Given the description of an element on the screen output the (x, y) to click on. 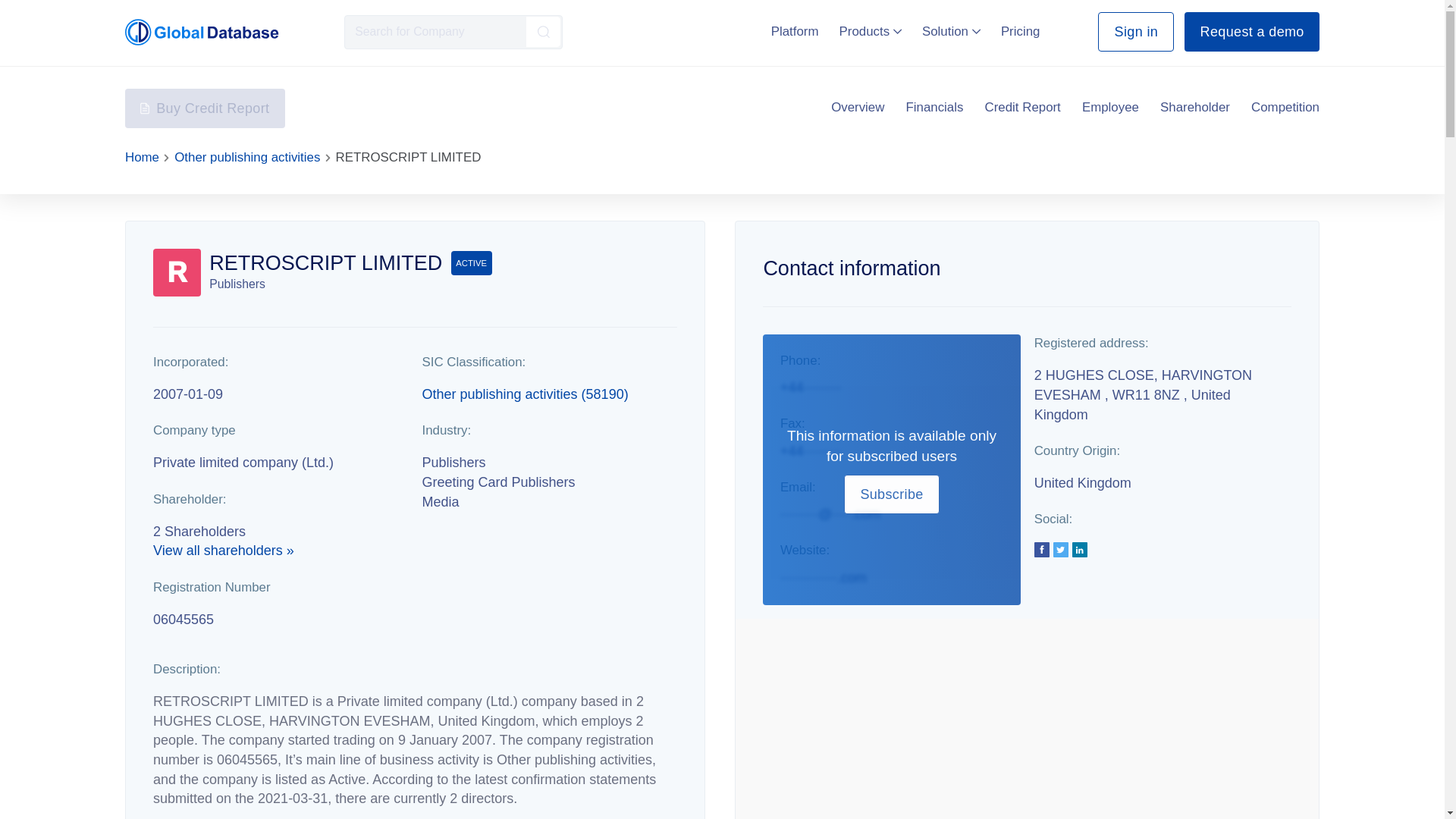
Employee (1109, 107)
Financials (934, 107)
Platform (794, 31)
Credit Report (1023, 107)
Overview (857, 107)
Buy Credit Report (205, 107)
Shareholder (1195, 107)
Request a demo (1252, 31)
Sign in (1135, 31)
Pricing (1021, 31)
